Given the description of an element on the screen output the (x, y) to click on. 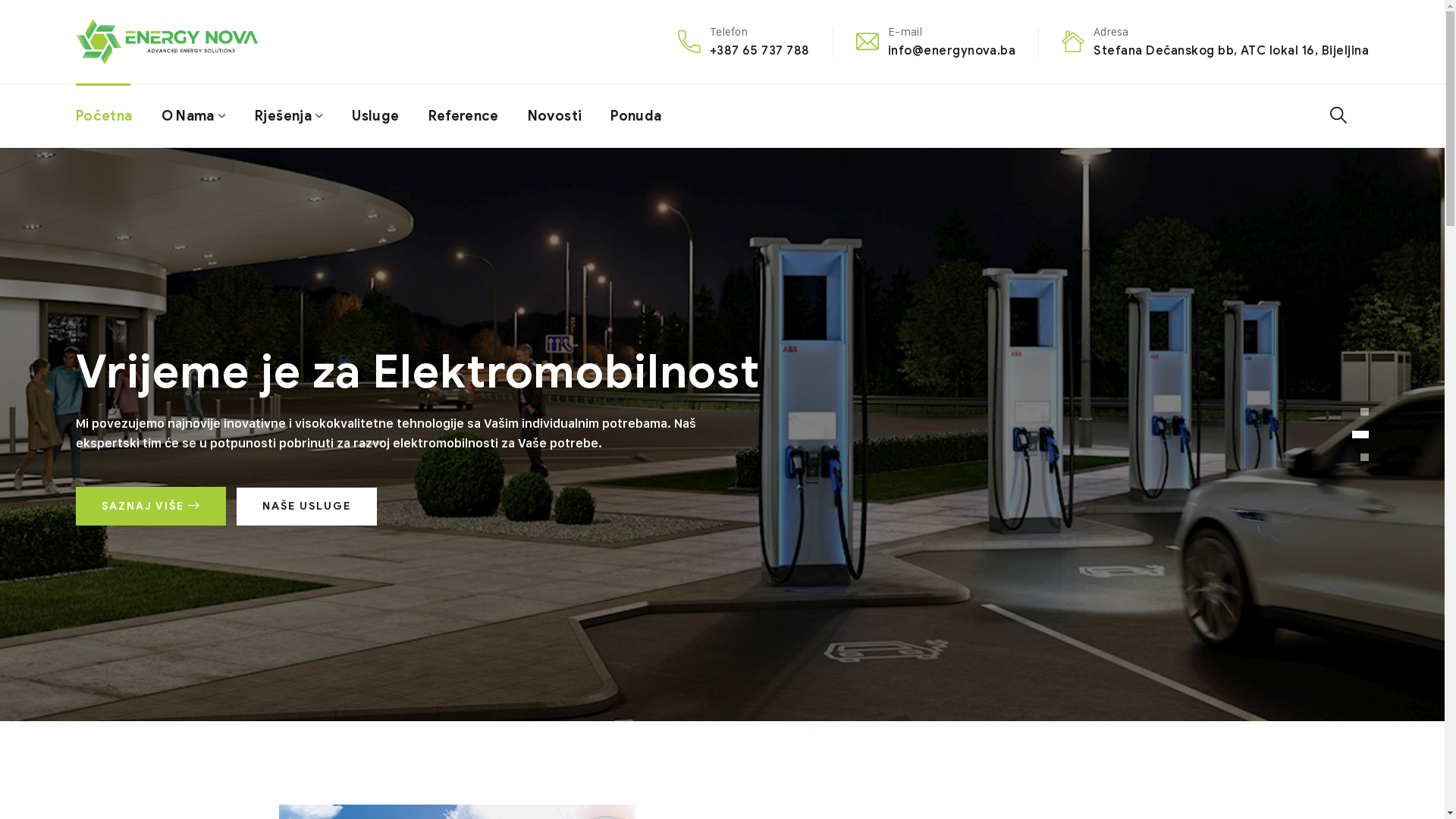
info@energynova.ba Element type: text (952, 50)
Energy Nova Element type: hover (166, 40)
Ponuda Element type: text (635, 115)
+387 65 737 788 Element type: text (759, 50)
Usluge Element type: text (374, 115)
Reference Element type: text (463, 115)
Novosti Element type: text (554, 115)
O Nama Element type: text (193, 115)
